Given the description of an element on the screen output the (x, y) to click on. 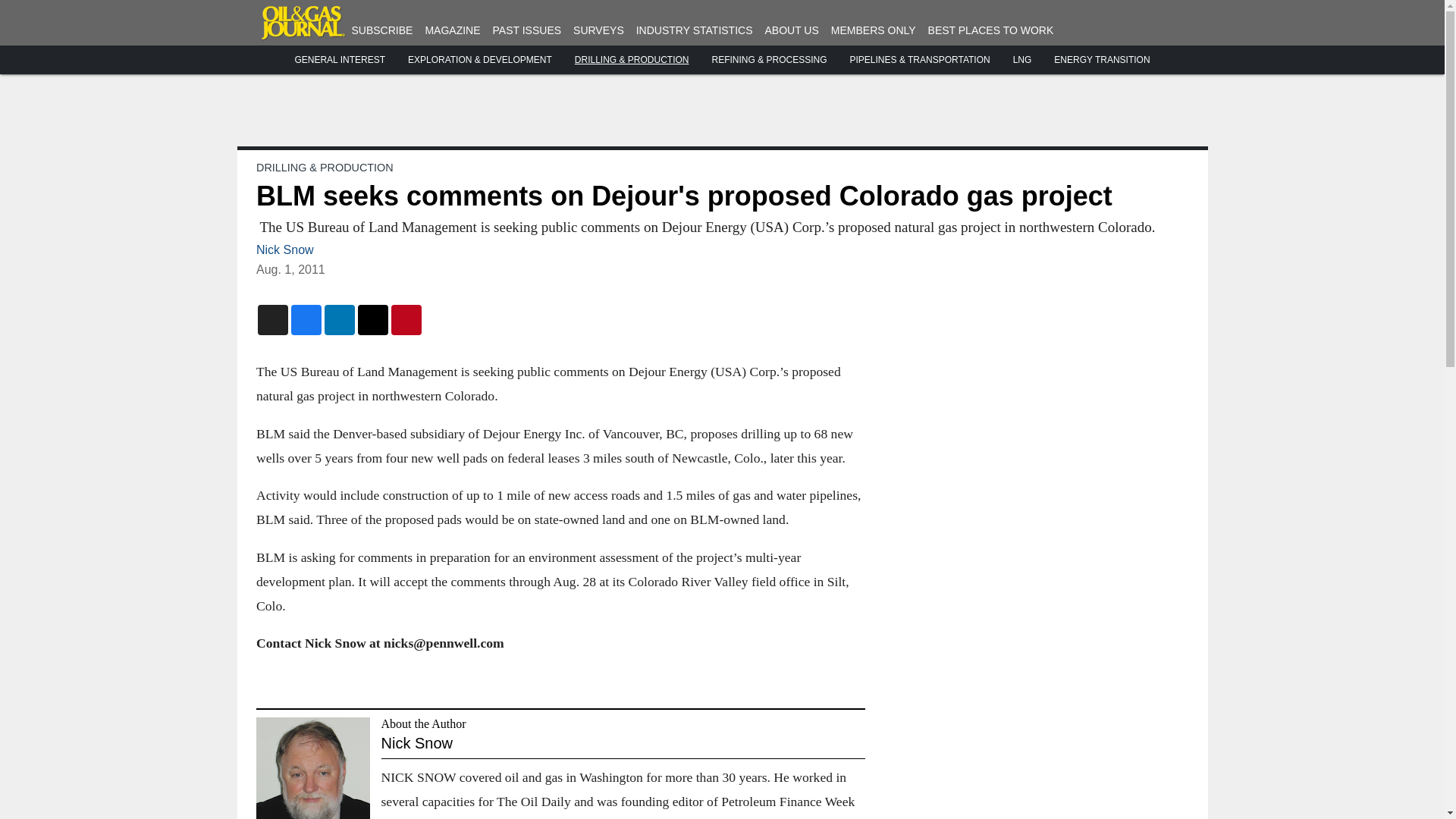
BEST PLACES TO WORK (991, 30)
MAGAZINE (452, 30)
SURVEYS (598, 30)
Nick Snow (285, 249)
ENERGY TRANSITION (1102, 59)
PAST ISSUES (527, 30)
SUBSCRIBE (382, 30)
GENERAL INTEREST (339, 59)
INDUSTRY STATISTICS (694, 30)
ABOUT US (791, 30)
MEMBERS ONLY (873, 30)
LNG (1022, 59)
